Given the description of an element on the screen output the (x, y) to click on. 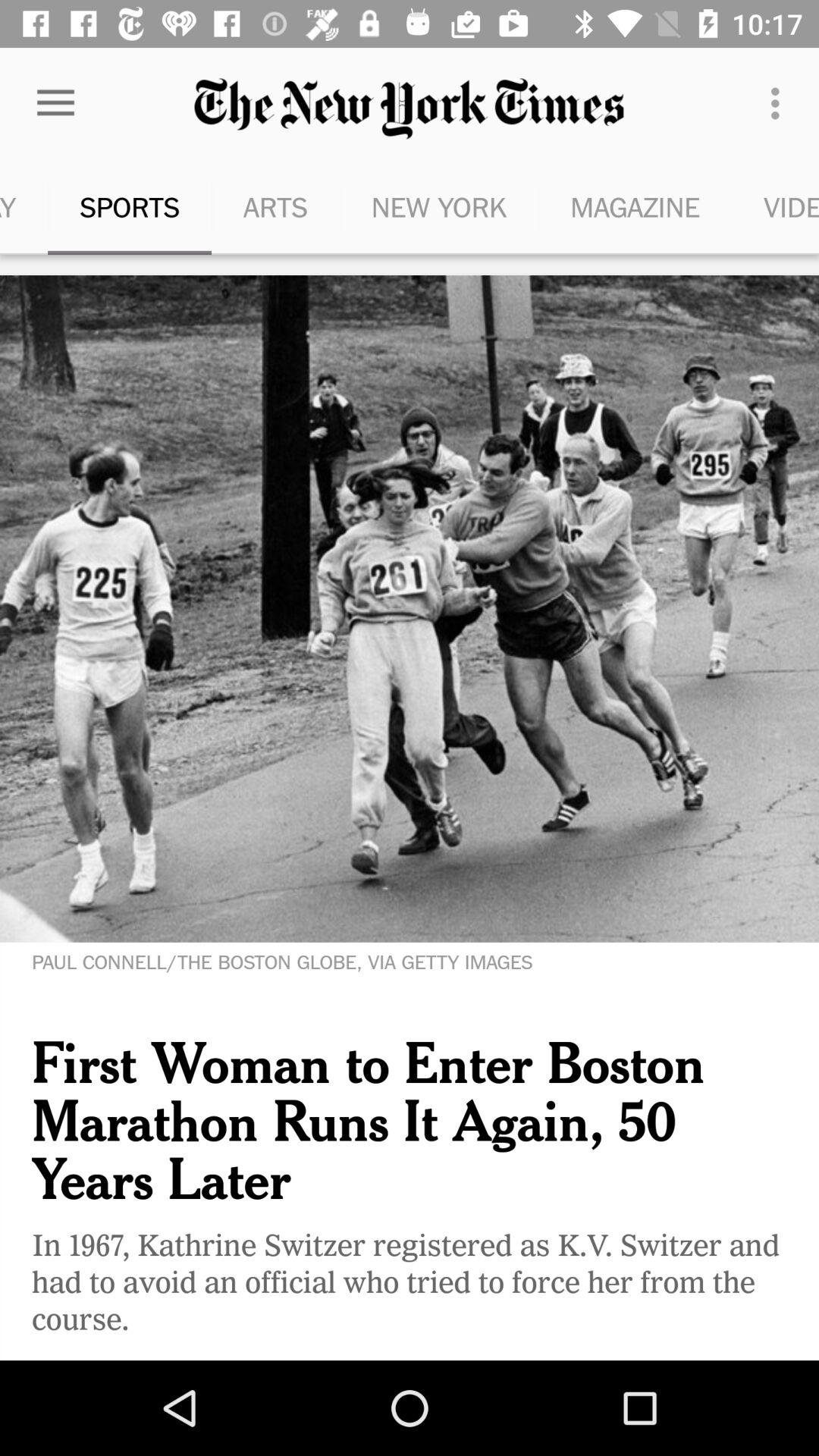
press magazine icon (634, 206)
